Given the description of an element on the screen output the (x, y) to click on. 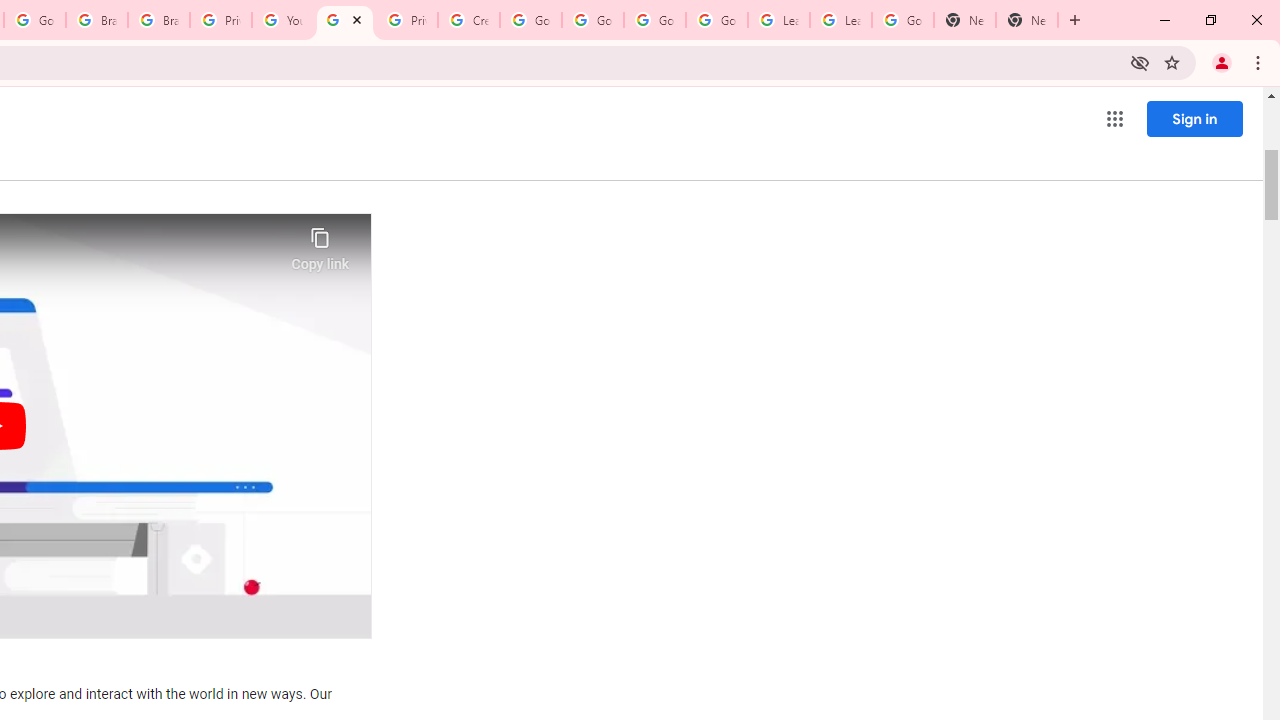
Google Account Help (592, 20)
Google Account Help (716, 20)
Create your Google Account (468, 20)
Google Account Help (530, 20)
Copy link (319, 244)
